Given the description of an element on the screen output the (x, y) to click on. 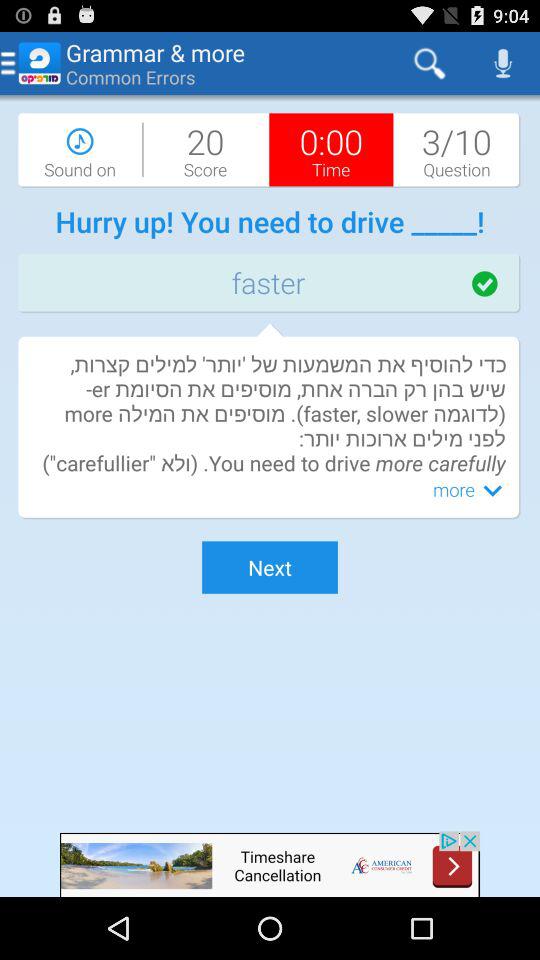
advertising (270, 864)
